Given the description of an element on the screen output the (x, y) to click on. 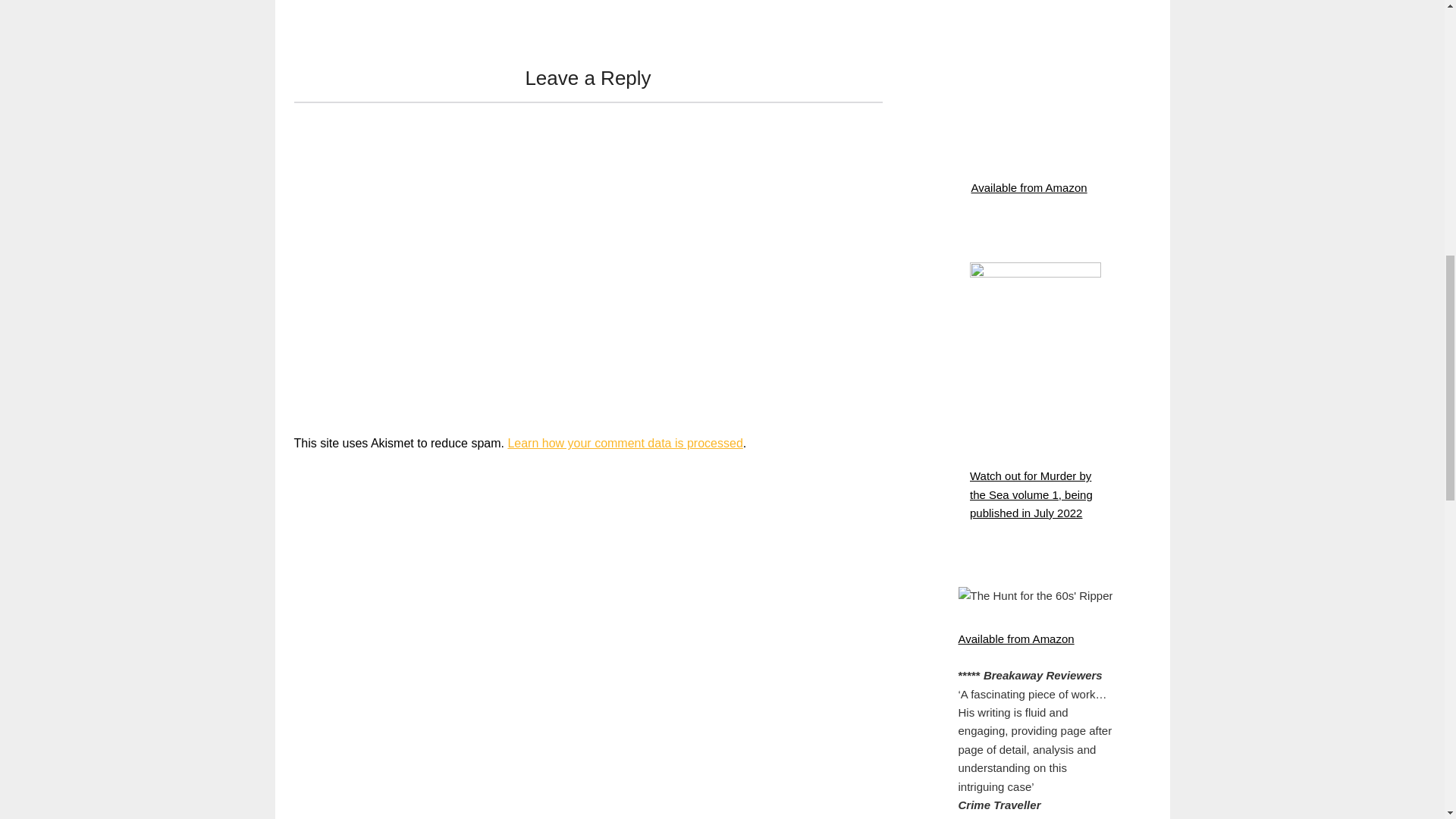
Available from Amazon (1016, 638)
Learn how your comment data is processed (624, 442)
Available from Amazon (1028, 187)
